Given the description of an element on the screen output the (x, y) to click on. 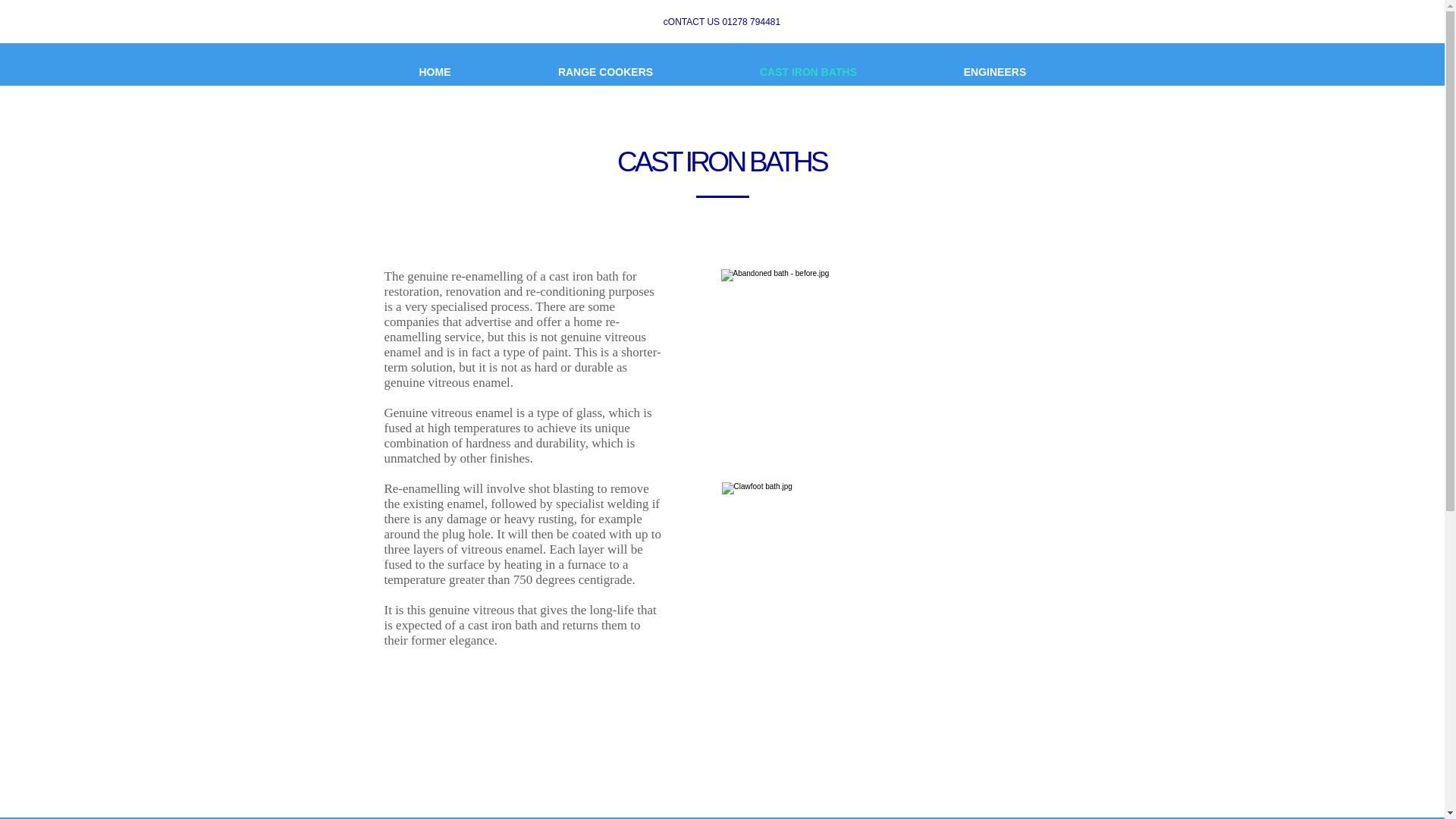
RANGE COOKERS (605, 72)
HOME (435, 72)
ENGINEERS (994, 72)
CAST IRON BATHS (808, 72)
